Given the description of an element on the screen output the (x, y) to click on. 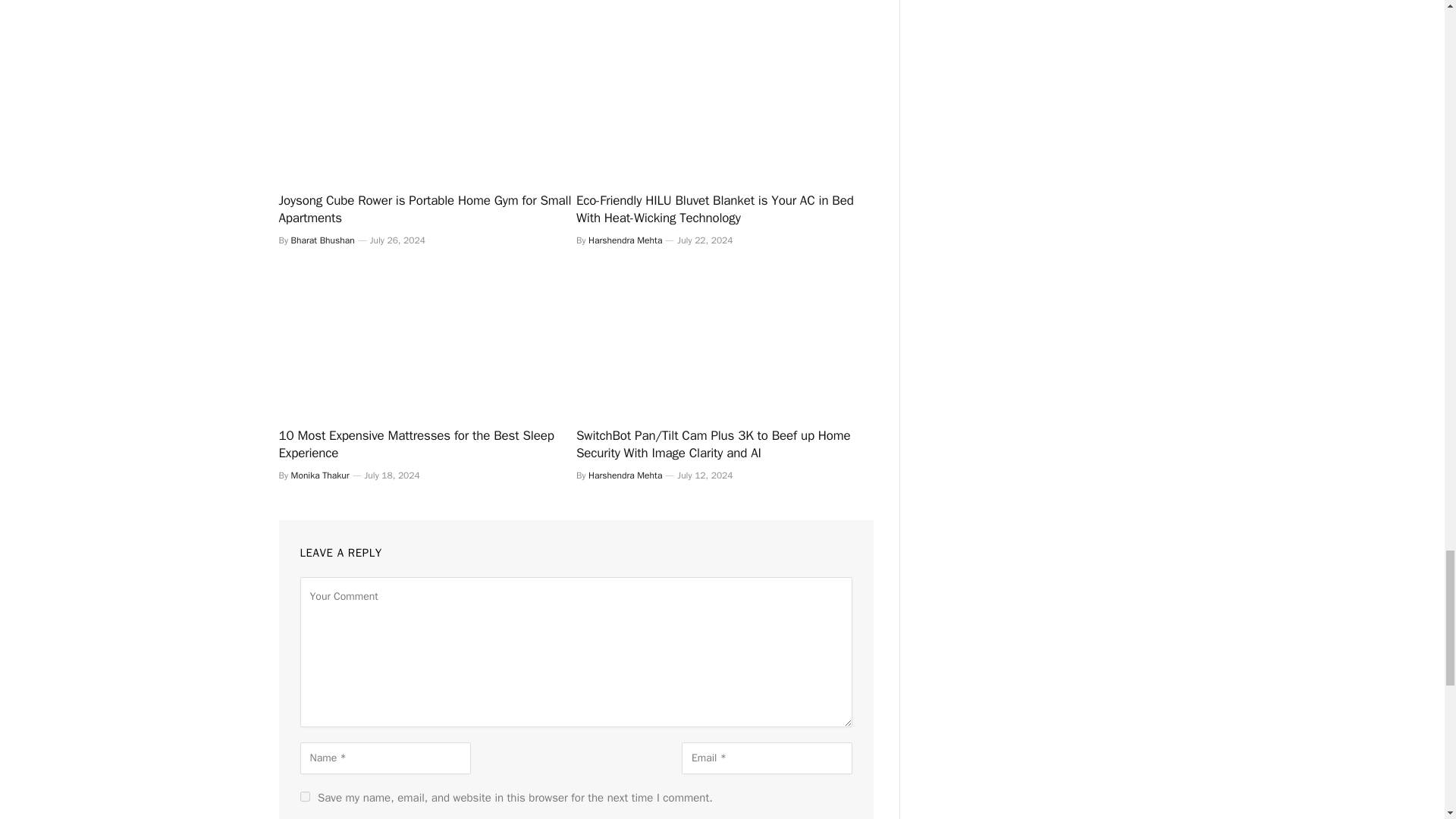
yes (304, 796)
